Given the description of an element on the screen output the (x, y) to click on. 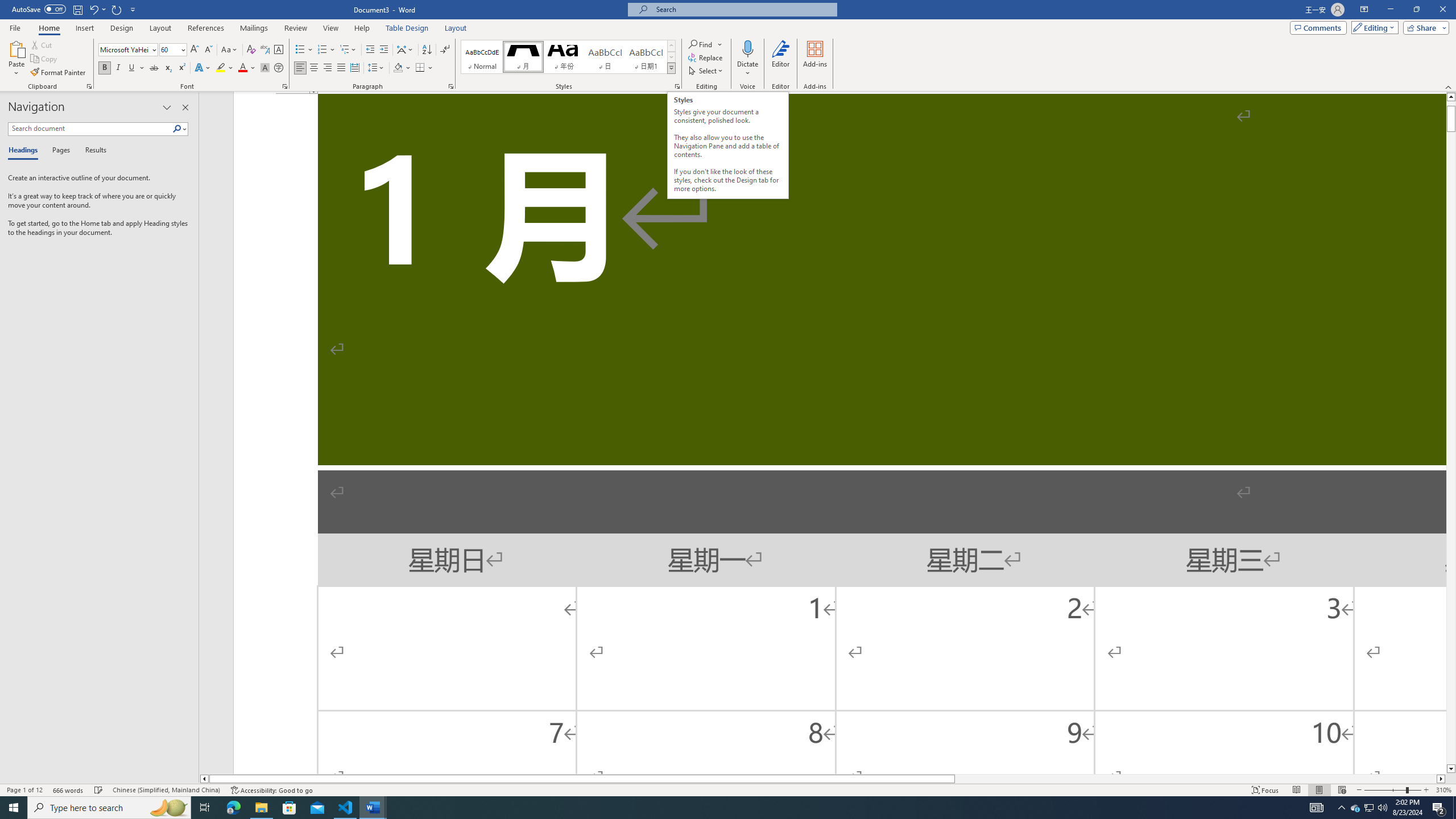
Increase Indent (383, 49)
Header -Section 1- (838, 92)
Superscript (180, 67)
Text Effects and Typography (202, 67)
Web Layout (1342, 790)
Copy (45, 58)
Help (361, 28)
Focus  (1265, 790)
Font Color (246, 67)
Dictate (747, 48)
Character Border (278, 49)
Print Layout (1318, 790)
Font Size (169, 49)
Justify (340, 67)
